Given the description of an element on the screen output the (x, y) to click on. 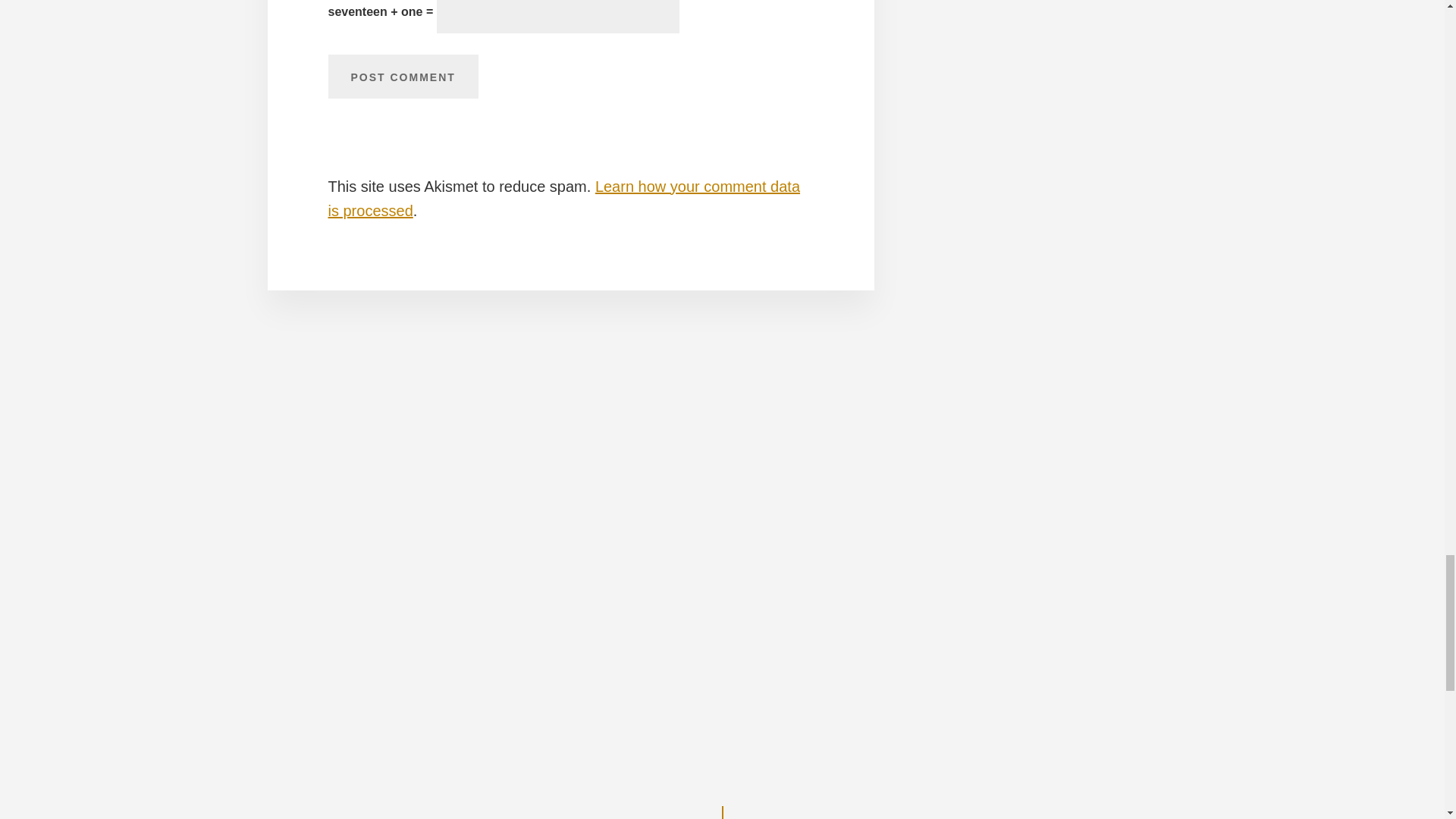
Post Comment (402, 76)
Learn how your comment data is processed (563, 199)
Post Comment (402, 76)
